Given the description of an element on the screen output the (x, y) to click on. 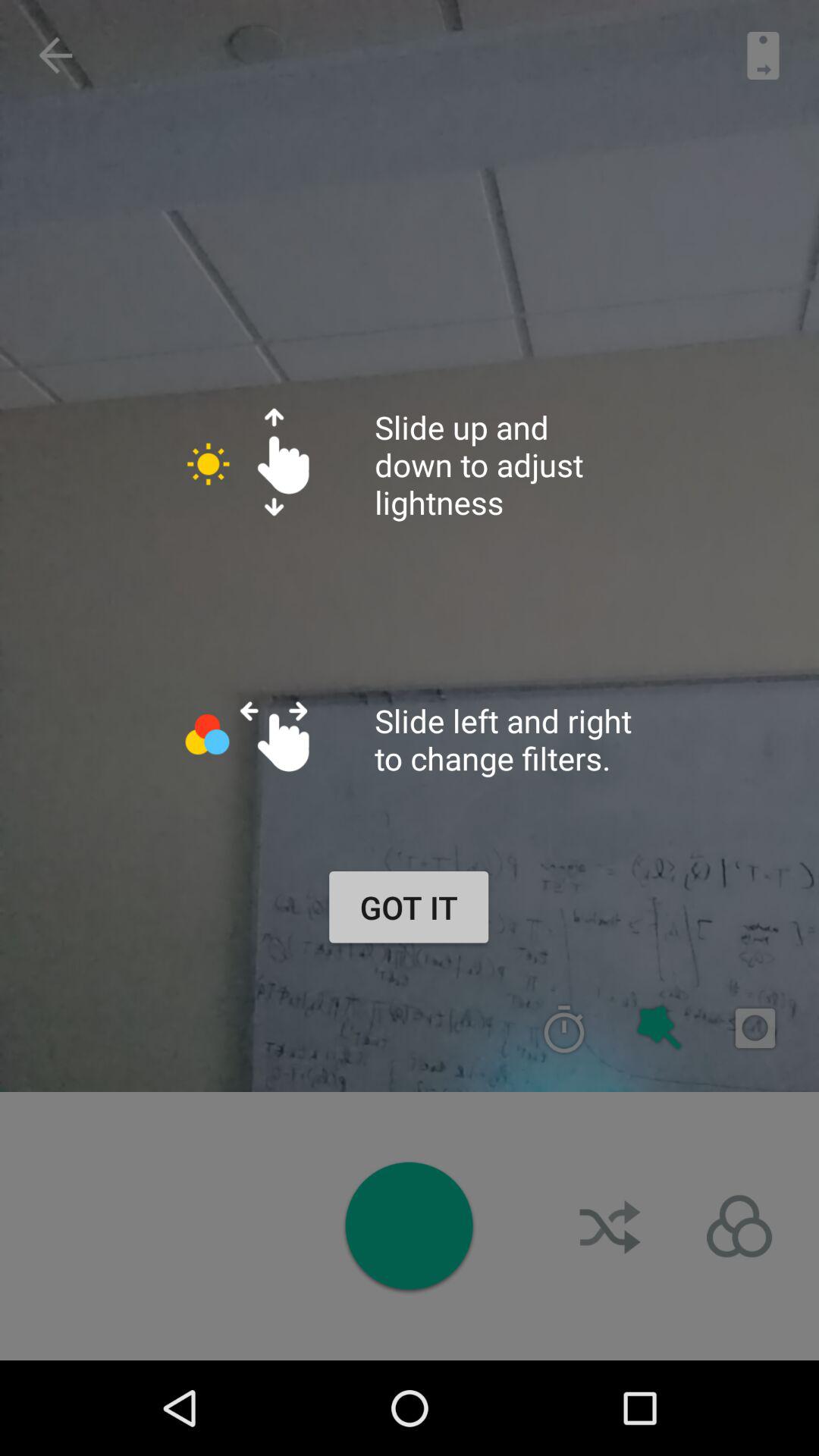
circle dot option (408, 1225)
